Given the description of an element on the screen output the (x, y) to click on. 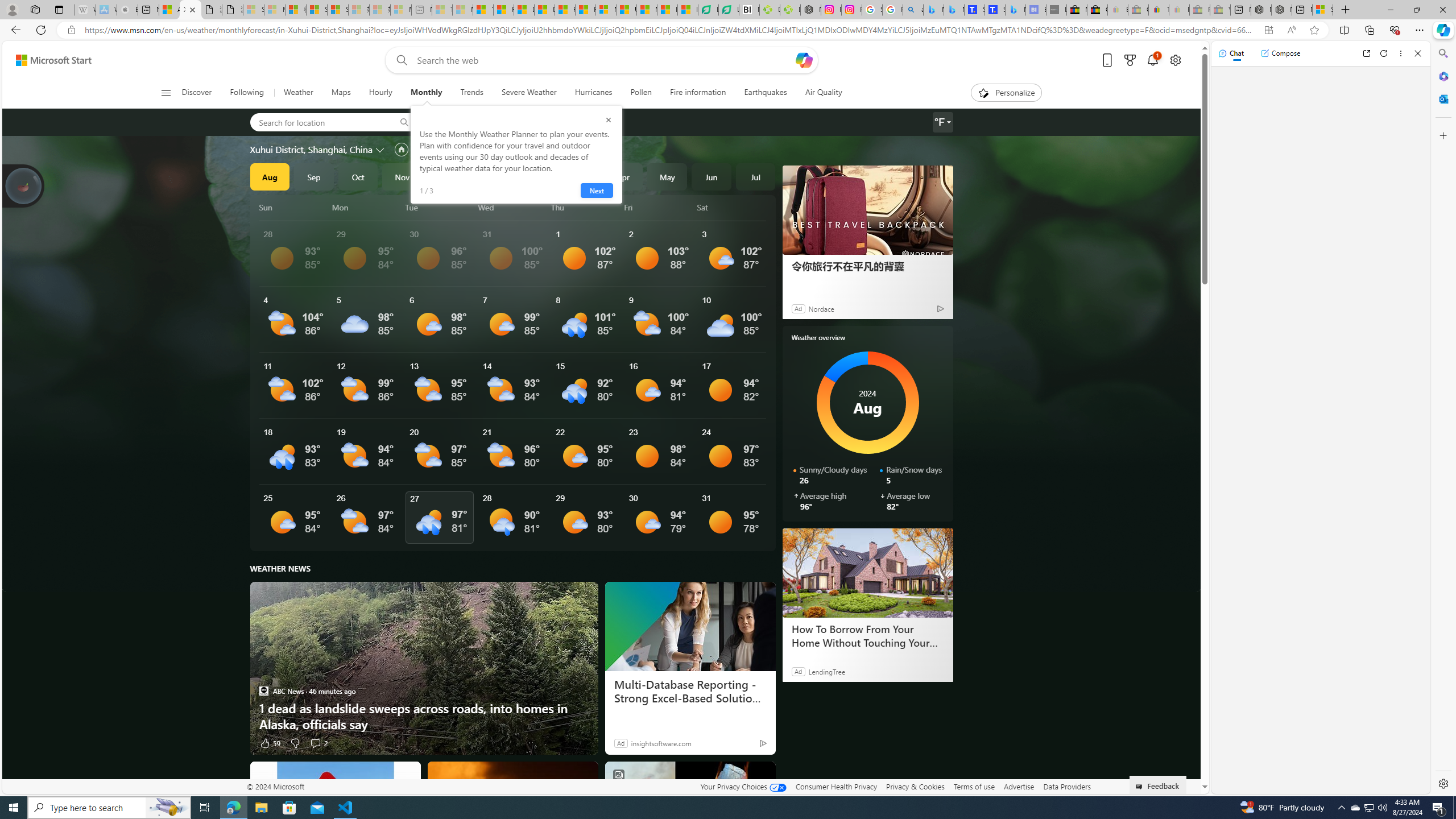
Severe Weather (529, 92)
Payments Terms of Use | eBay.com - Sleeping (1178, 9)
59 Like (269, 742)
Oct (357, 176)
Join us in planting real trees to help our planet! (23, 184)
Aberdeen (454, 121)
